Given the description of an element on the screen output the (x, y) to click on. 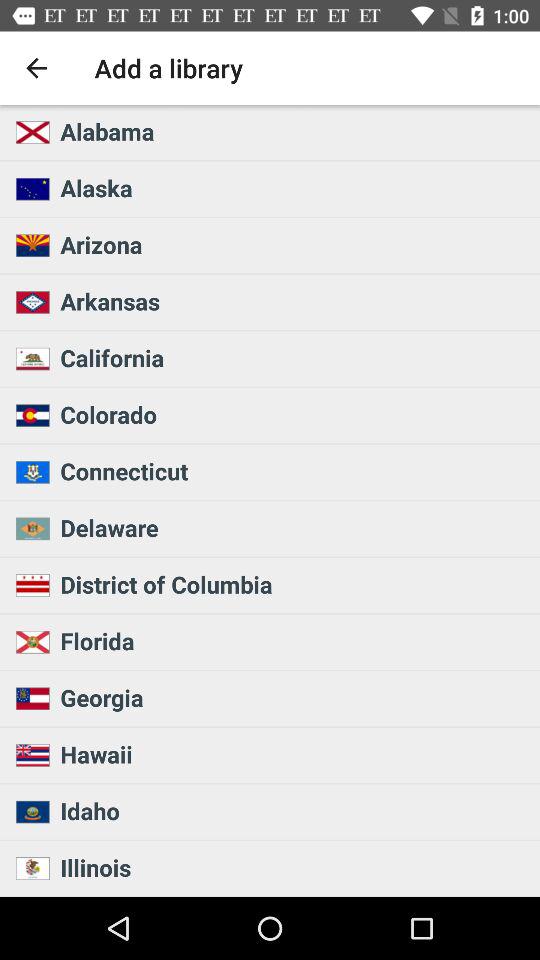
turn off the icon above hawaii item (294, 697)
